Given the description of an element on the screen output the (x, y) to click on. 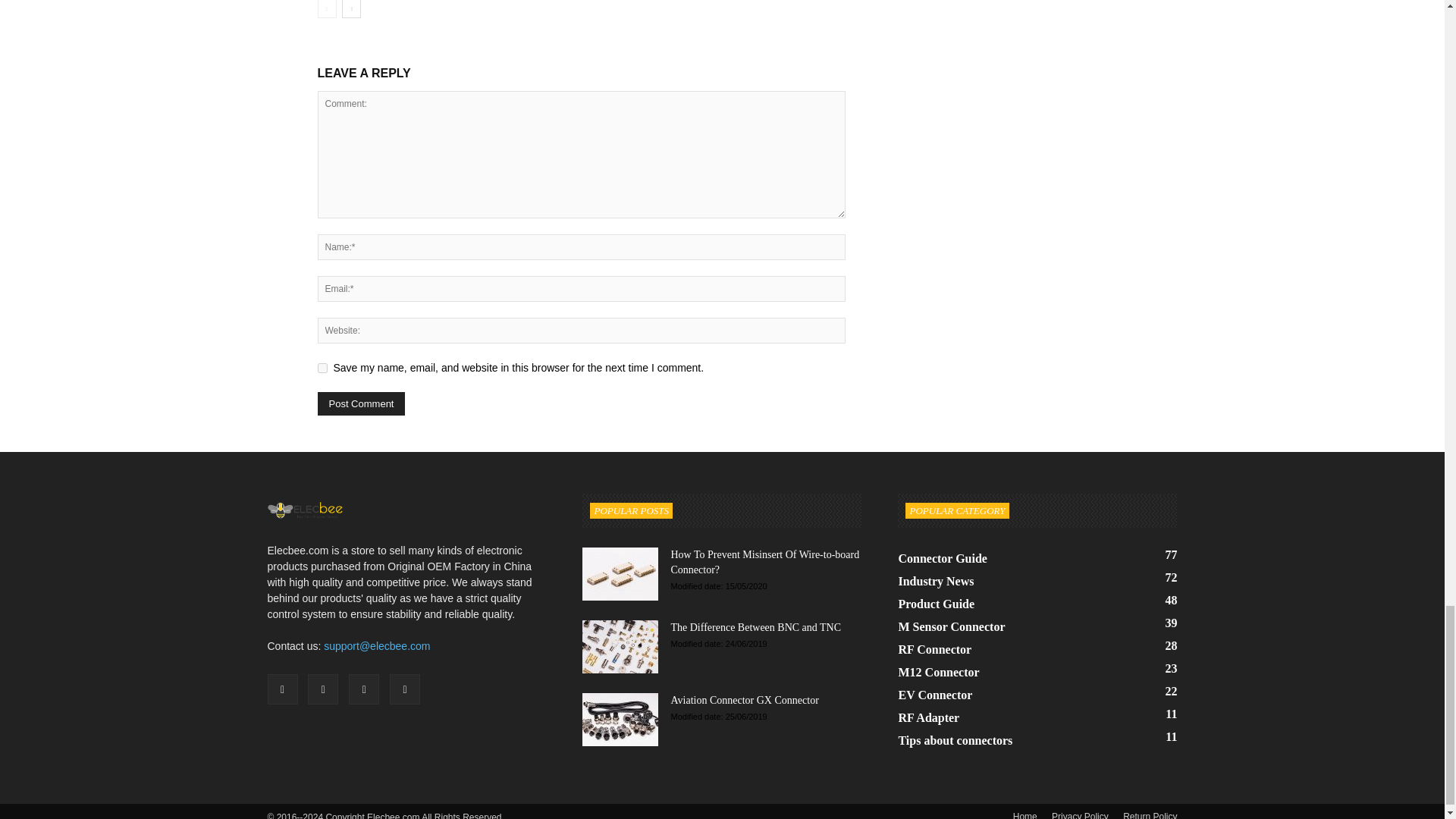
Post Comment (360, 403)
yes (321, 368)
